Given the description of an element on the screen output the (x, y) to click on. 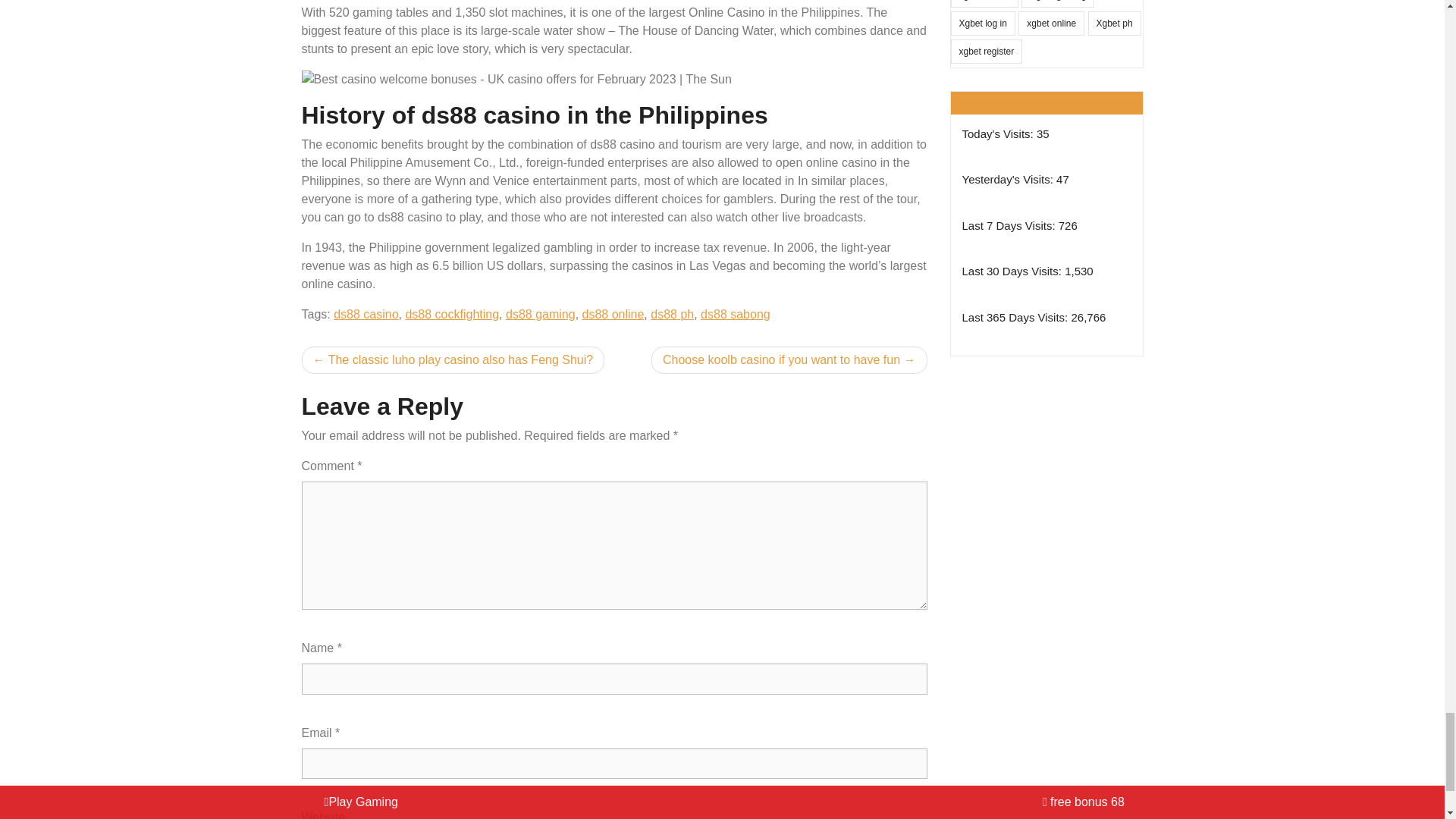
ds88 online (613, 314)
ds88 ph (672, 314)
The classic luho play casino also has Feng Shui? (453, 359)
Choose koolb casino if you want to have fun (788, 359)
ds88 sabong (735, 314)
ds88 cockfighting (451, 314)
ds88 casino (365, 314)
ds88 gaming (540, 314)
